Given the description of an element on the screen output the (x, y) to click on. 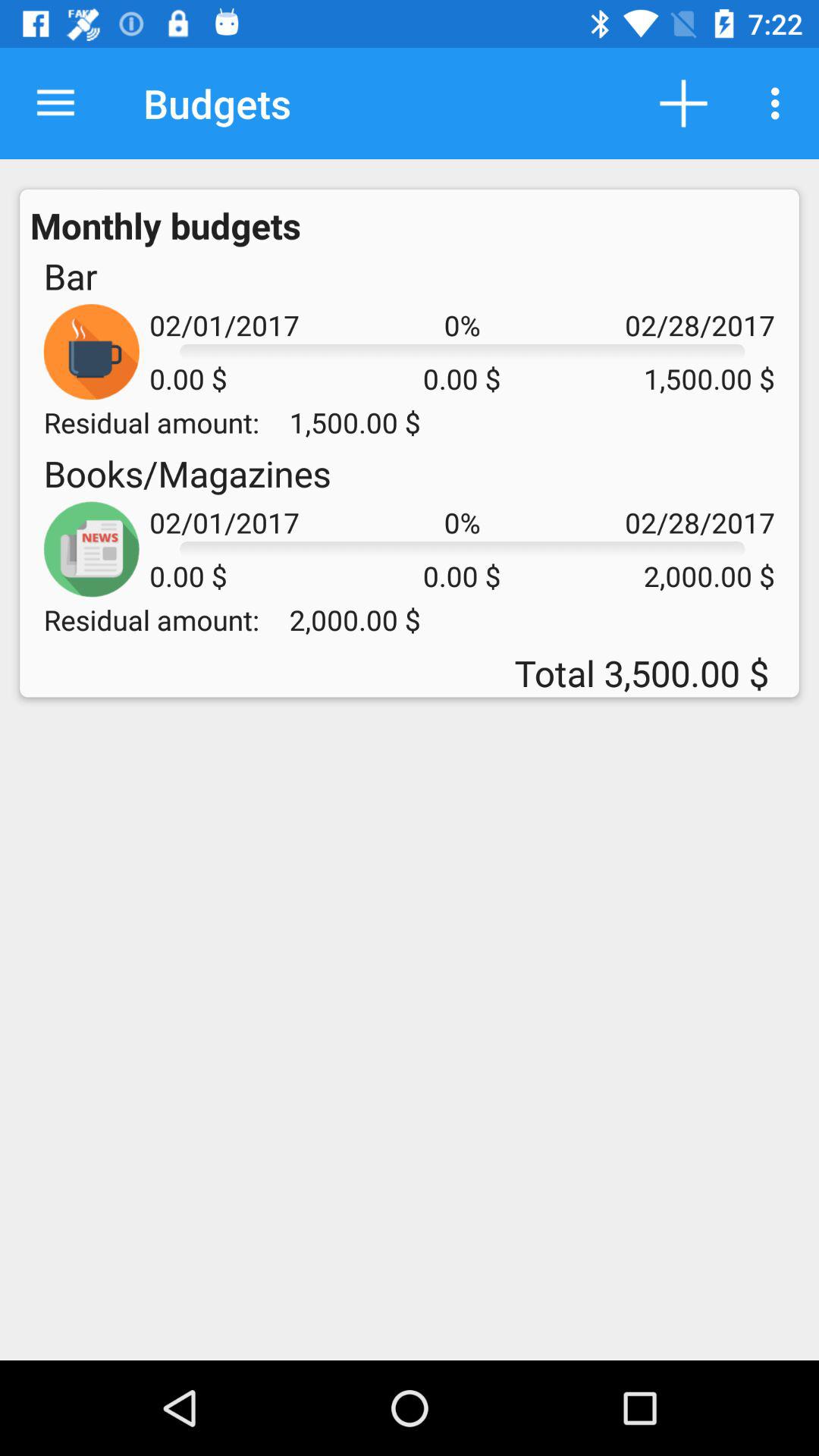
turn off item above 02/28/2017 icon (683, 103)
